Given the description of an element on the screen output the (x, y) to click on. 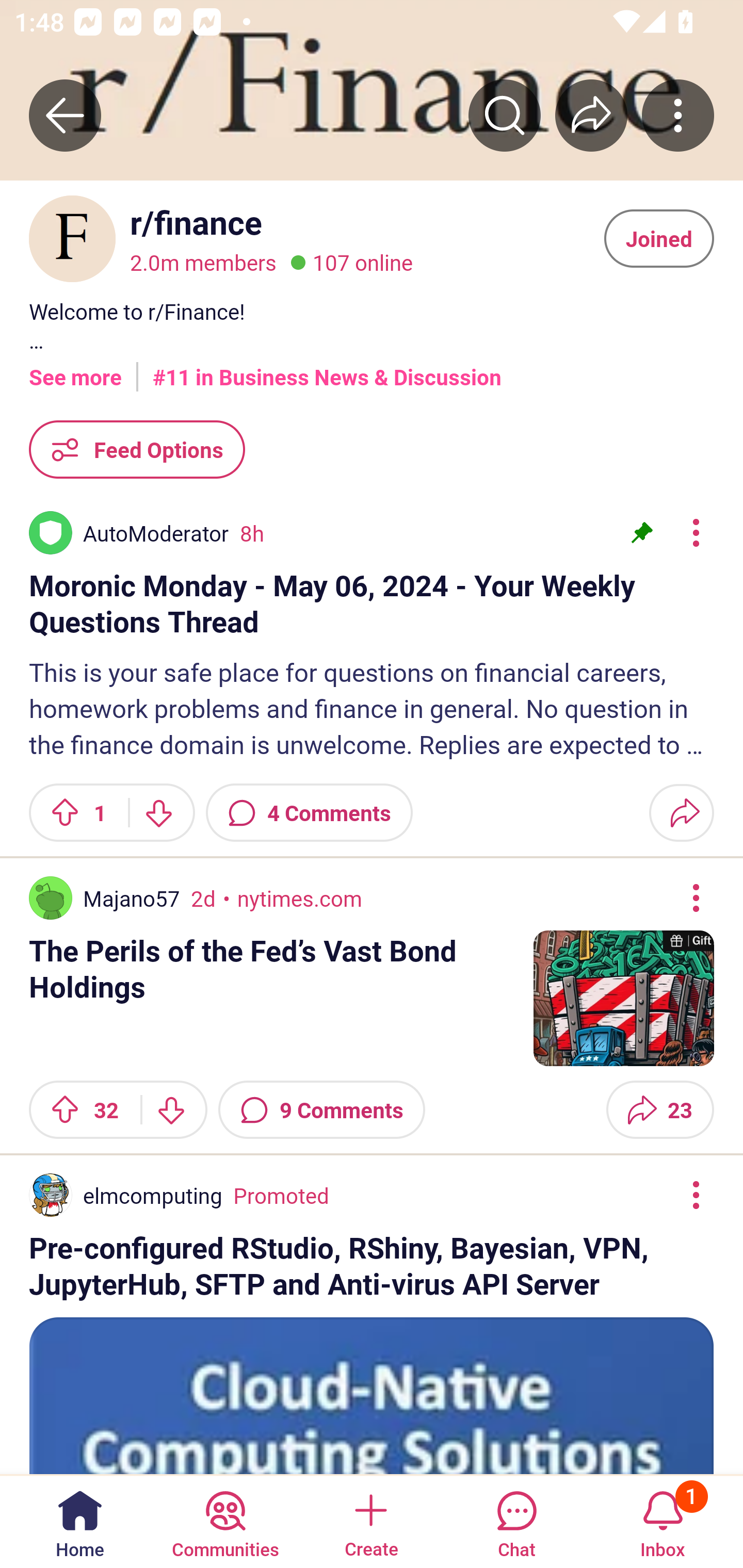
Back (64, 115)
Search r/﻿finance (504, 115)
Share r/﻿finance (591, 115)
More community actions (677, 115)
See more (74, 369)
#11 in Business News & Discussion (327, 369)
Feed Options (136, 449)
Home (80, 1520)
Communities (225, 1520)
Create a post Create (370, 1520)
Chat (516, 1520)
Inbox, has 1 notification 1 Inbox (662, 1520)
